Given the description of an element on the screen output the (x, y) to click on. 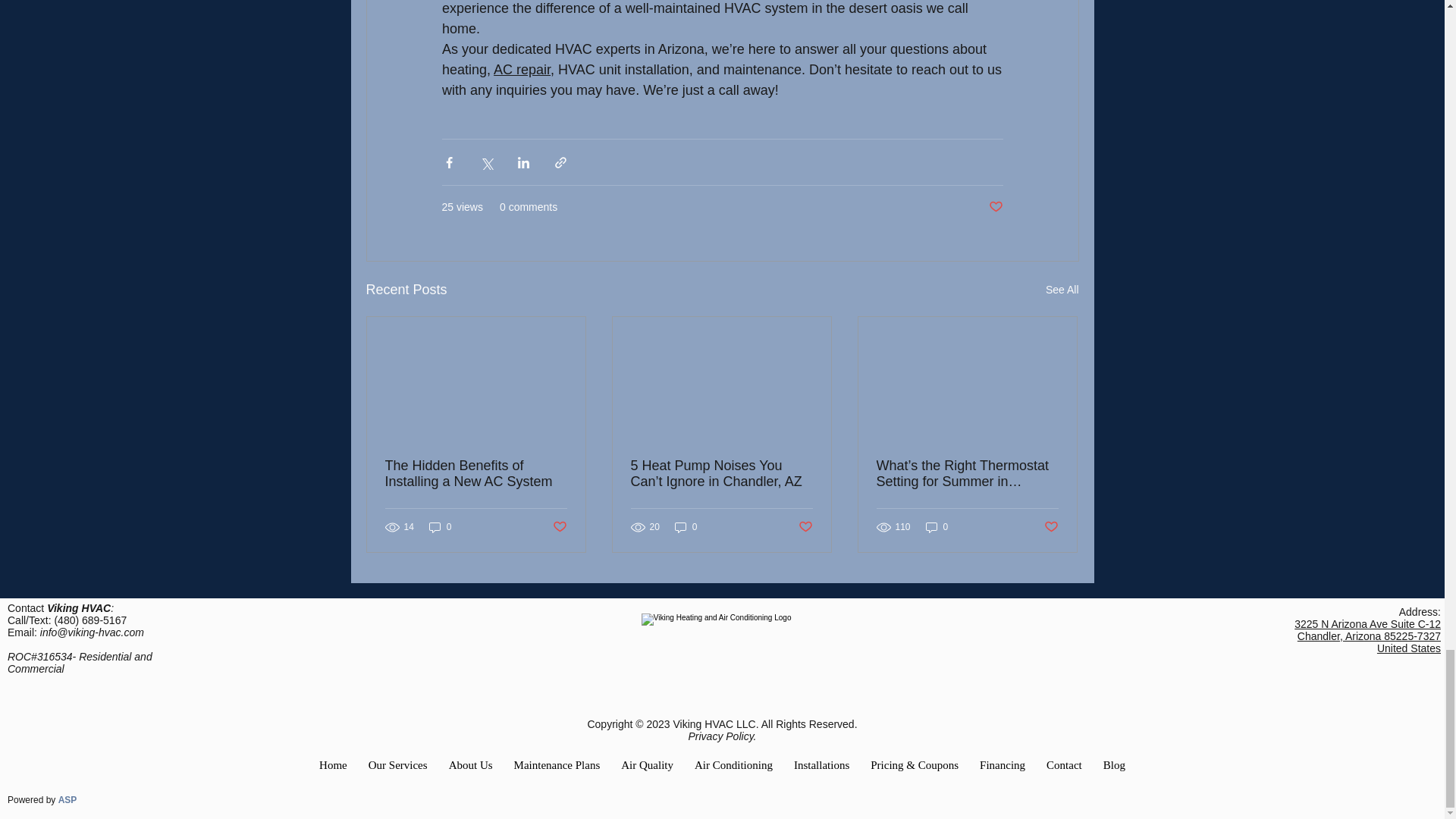
0 (440, 527)
Post not marked as liked (558, 526)
0 (937, 527)
0 (685, 527)
See All (1061, 290)
The Hidden Benefits of Installing a New AC System (476, 473)
Post not marked as liked (995, 207)
Post not marked as liked (1050, 526)
ASP (67, 799)
Post not marked as liked (804, 526)
AC repair (521, 69)
Privacy Policy. (722, 736)
